Given the description of an element on the screen output the (x, y) to click on. 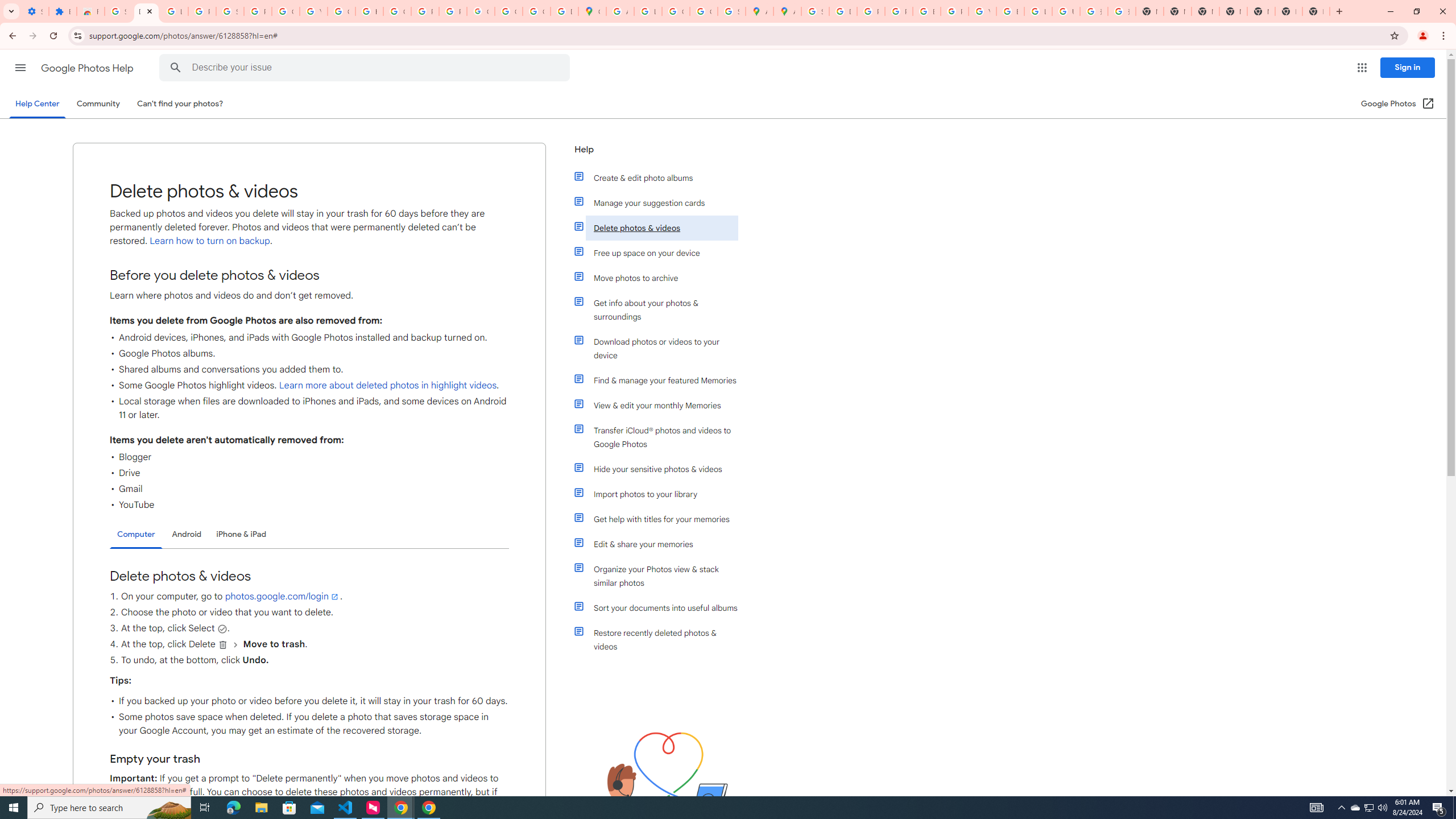
 Learn how to turn on backup (208, 240)
Edit & share your memories (661, 543)
Organize your Photos view & stack similar photos (661, 575)
Google Account (285, 11)
